Given the description of an element on the screen output the (x, y) to click on. 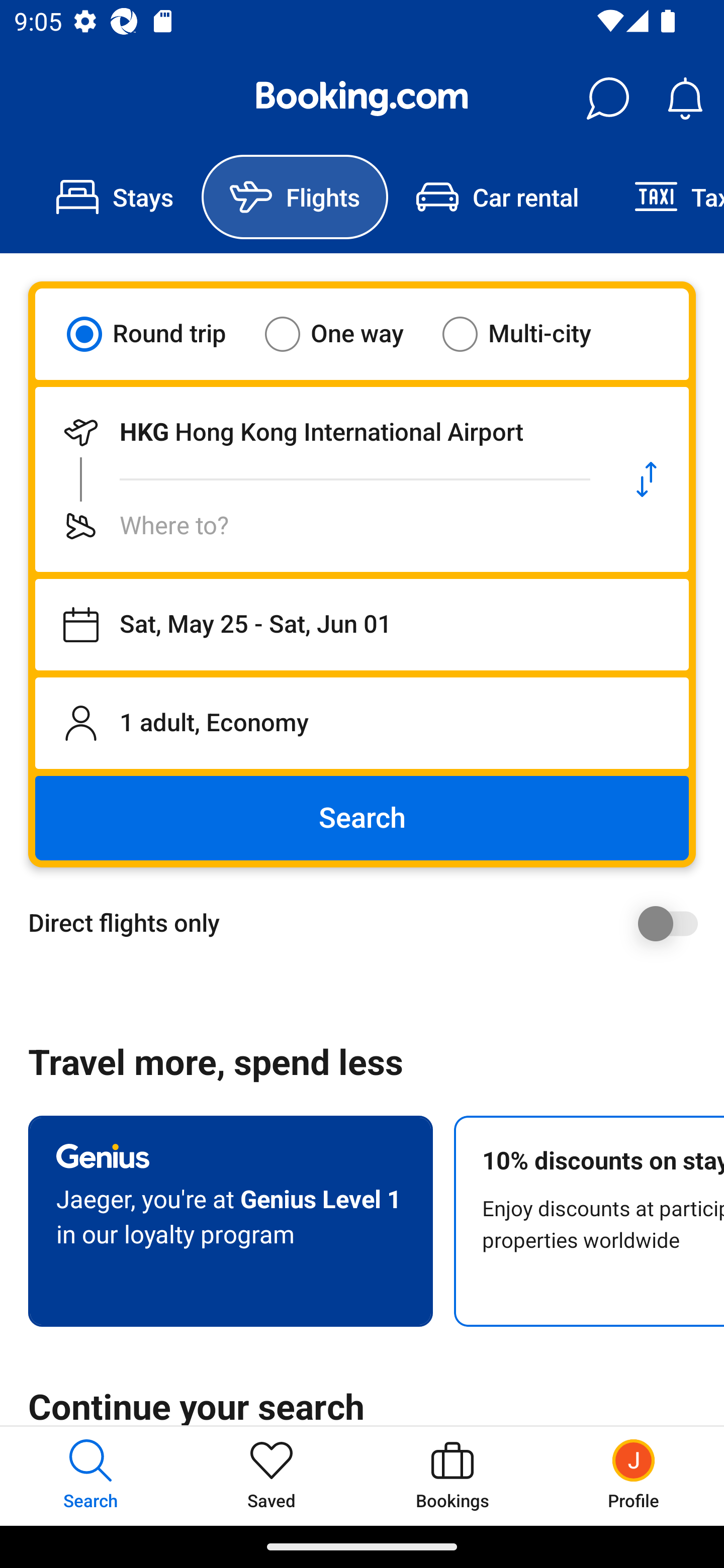
Messages (607, 98)
Notifications (685, 98)
Stays (114, 197)
Flights (294, 197)
Car rental (497, 197)
Taxi (665, 197)
One way (346, 333)
Multi-city (528, 333)
Departing from HKG Hong Kong International Airport (319, 432)
Swap departure location and destination (646, 479)
Flying to  (319, 525)
Departing on Sat, May 25, returning on Sat, Jun 01 (361, 624)
1 adult, Economy (361, 722)
Search (361, 818)
Direct flights only (369, 923)
Saved (271, 1475)
Bookings (452, 1475)
Profile (633, 1475)
